Given the description of an element on the screen output the (x, y) to click on. 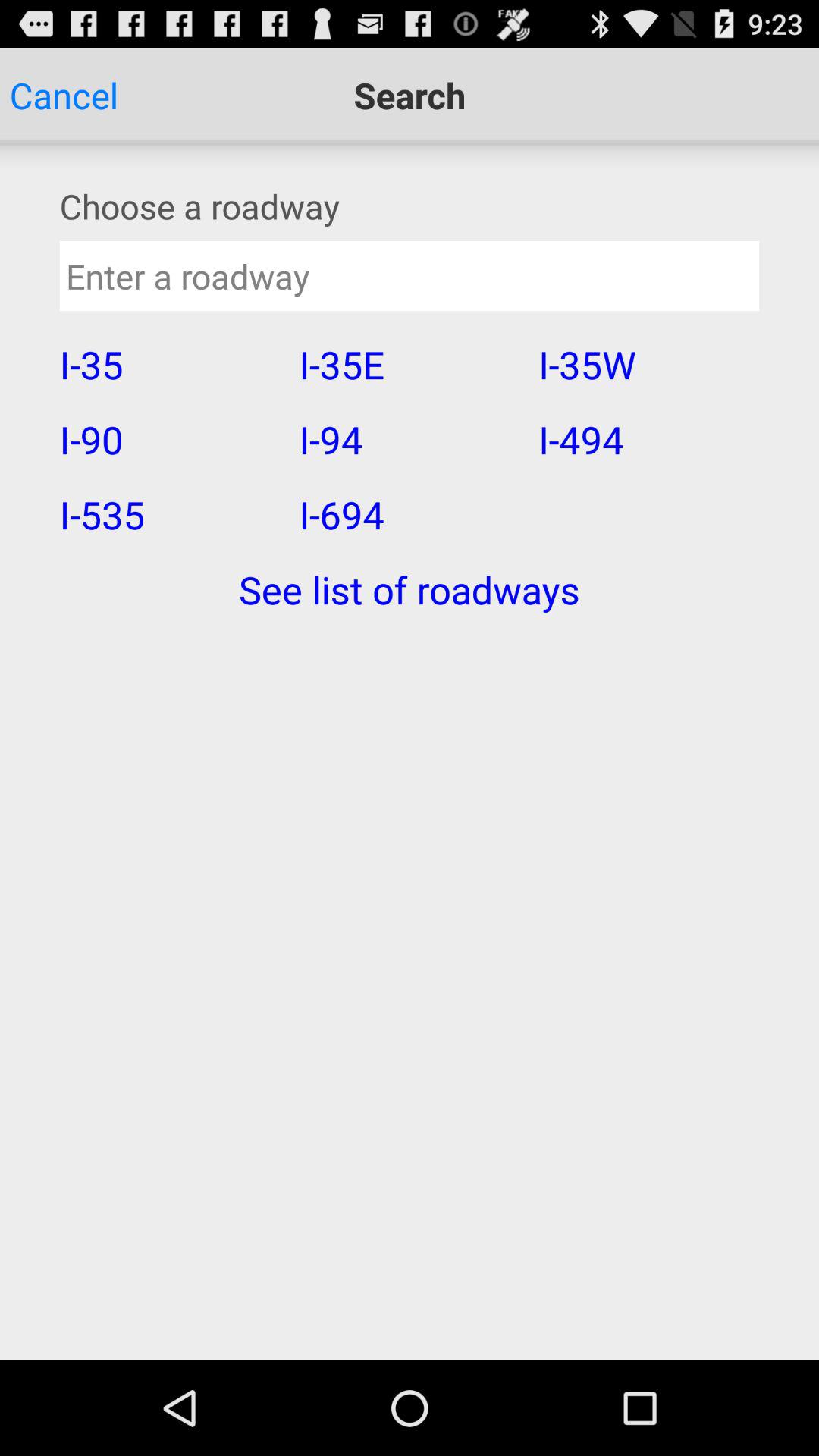
scroll until the i-94 item (408, 439)
